Given the description of an element on the screen output the (x, y) to click on. 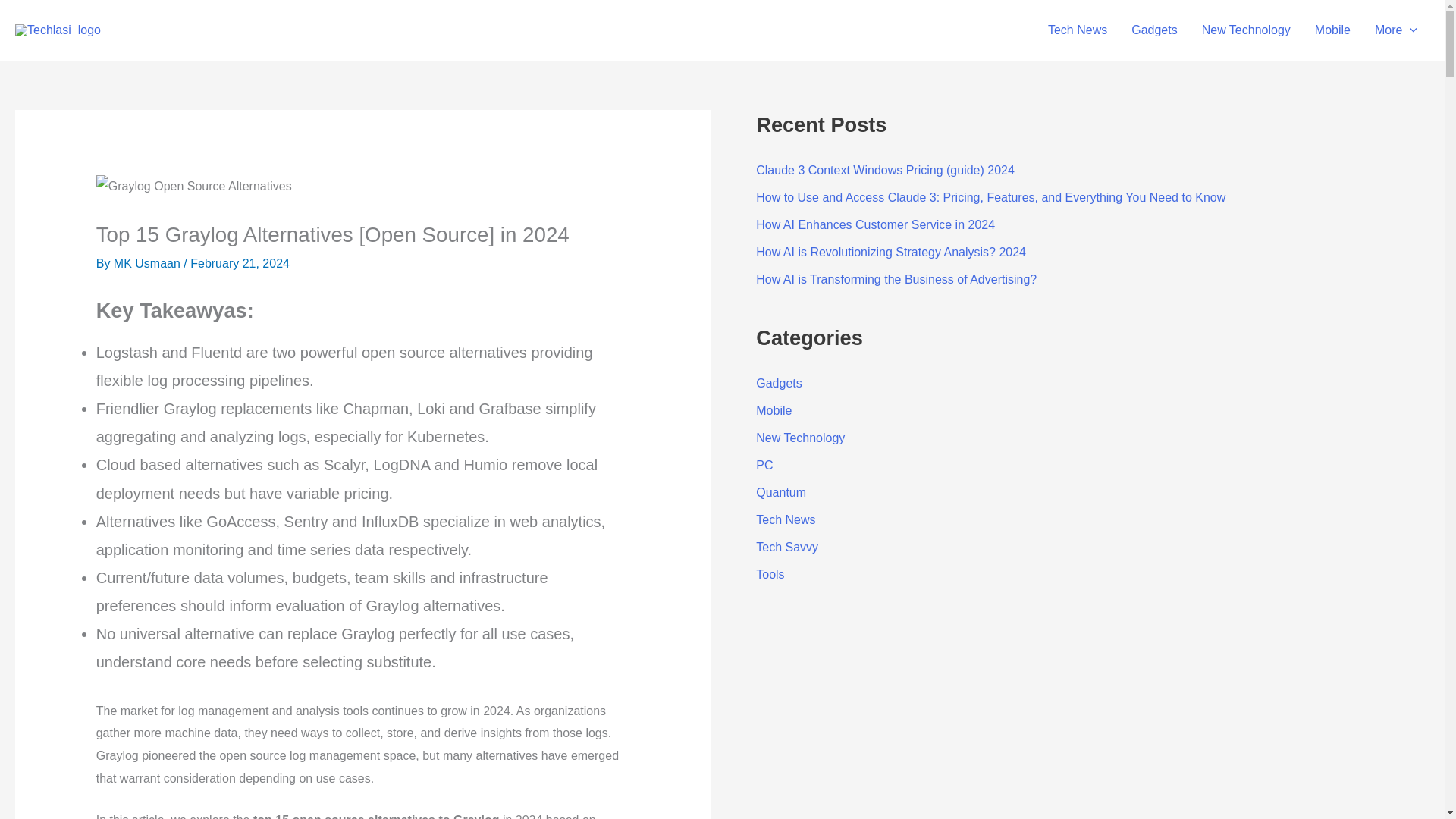
MK Usmaan (148, 263)
New Technology (1246, 30)
Gadgets (1154, 30)
View all posts by MK Usmaan (148, 263)
More (1395, 30)
Tech News (1077, 30)
Mobile (1332, 30)
